Given the description of an element on the screen output the (x, y) to click on. 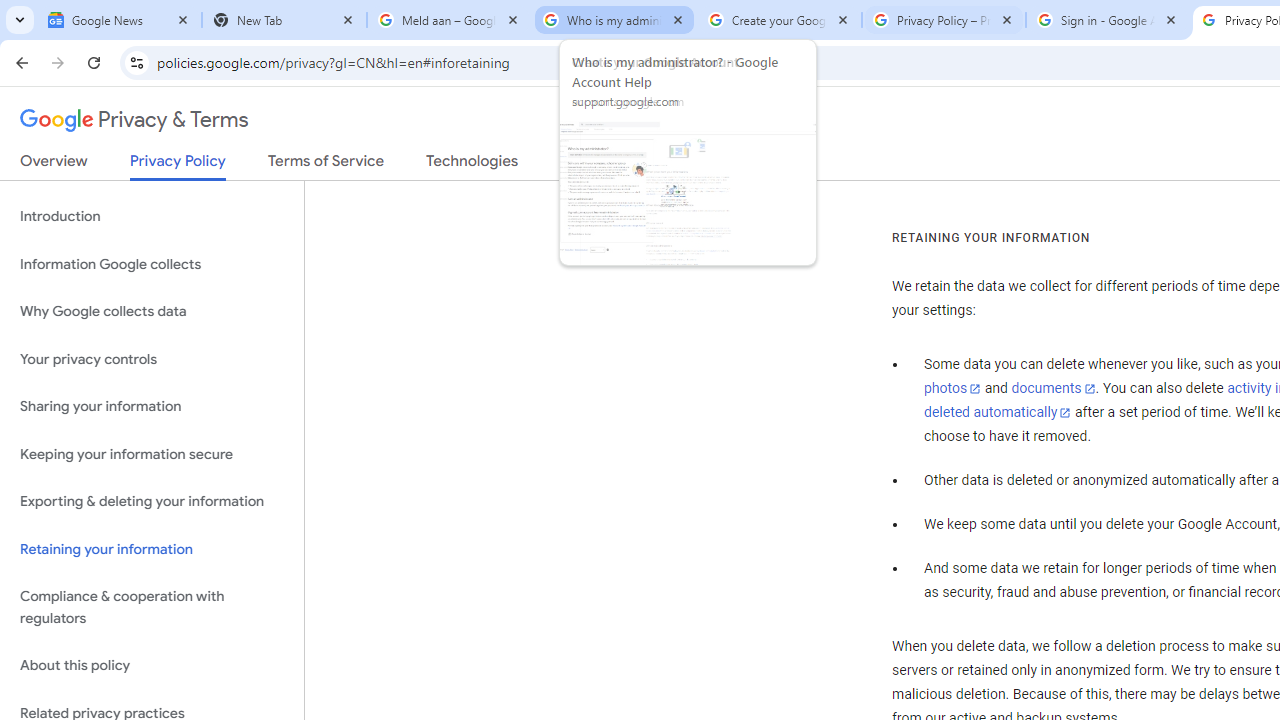
photos (952, 389)
Who is my administrator? - Google Account Help (614, 20)
New Tab (284, 20)
documents (1053, 389)
